Given the description of an element on the screen output the (x, y) to click on. 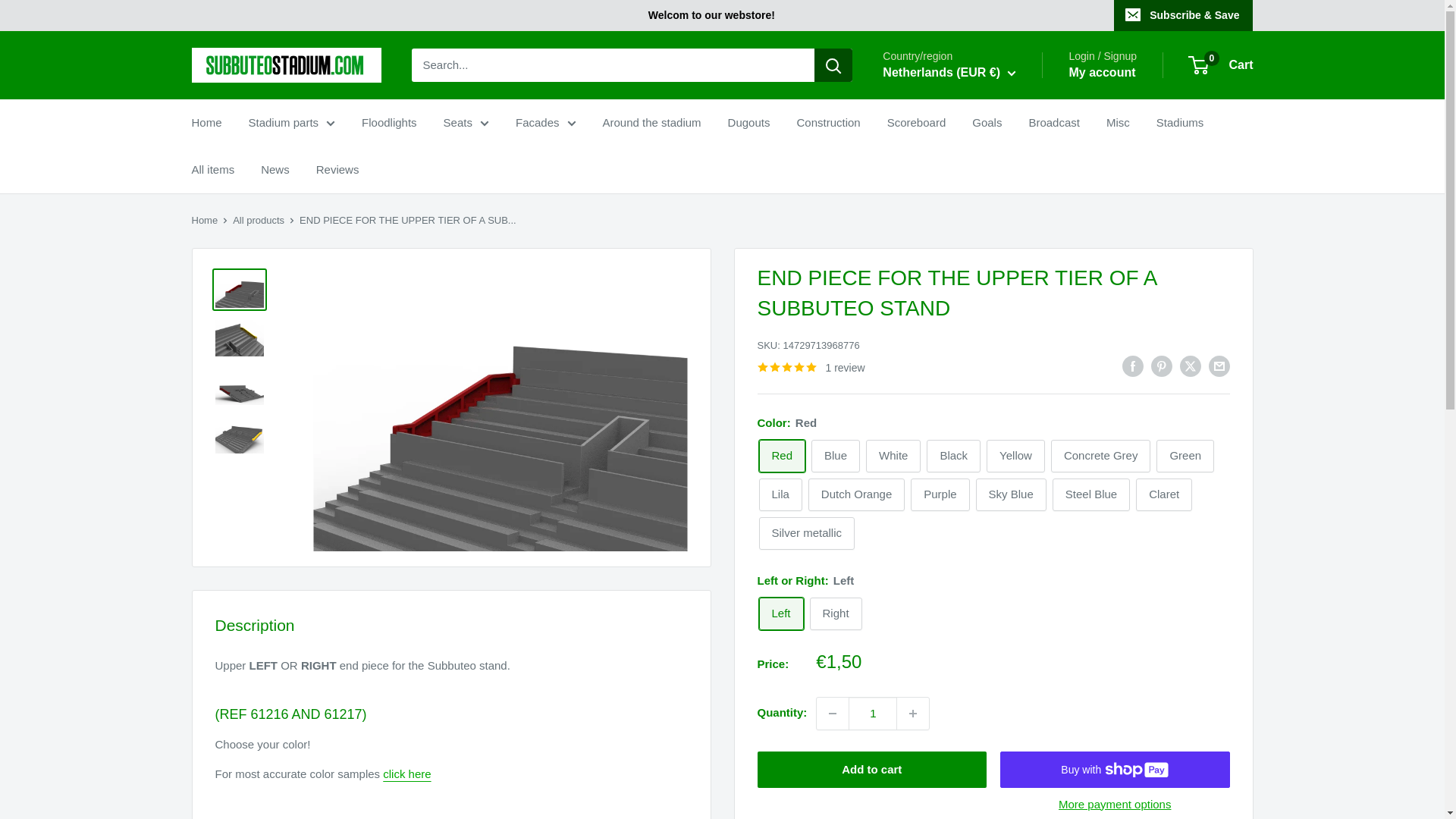
Sky Blue (1010, 494)
Silver metallic (806, 532)
Green (1185, 455)
Blue (835, 455)
Dutch Orange (856, 494)
Claret (1163, 494)
Red (781, 455)
Decrease quantity by 1 (832, 713)
Yellow (1016, 455)
1 (872, 713)
